Given the description of an element on the screen output the (x, y) to click on. 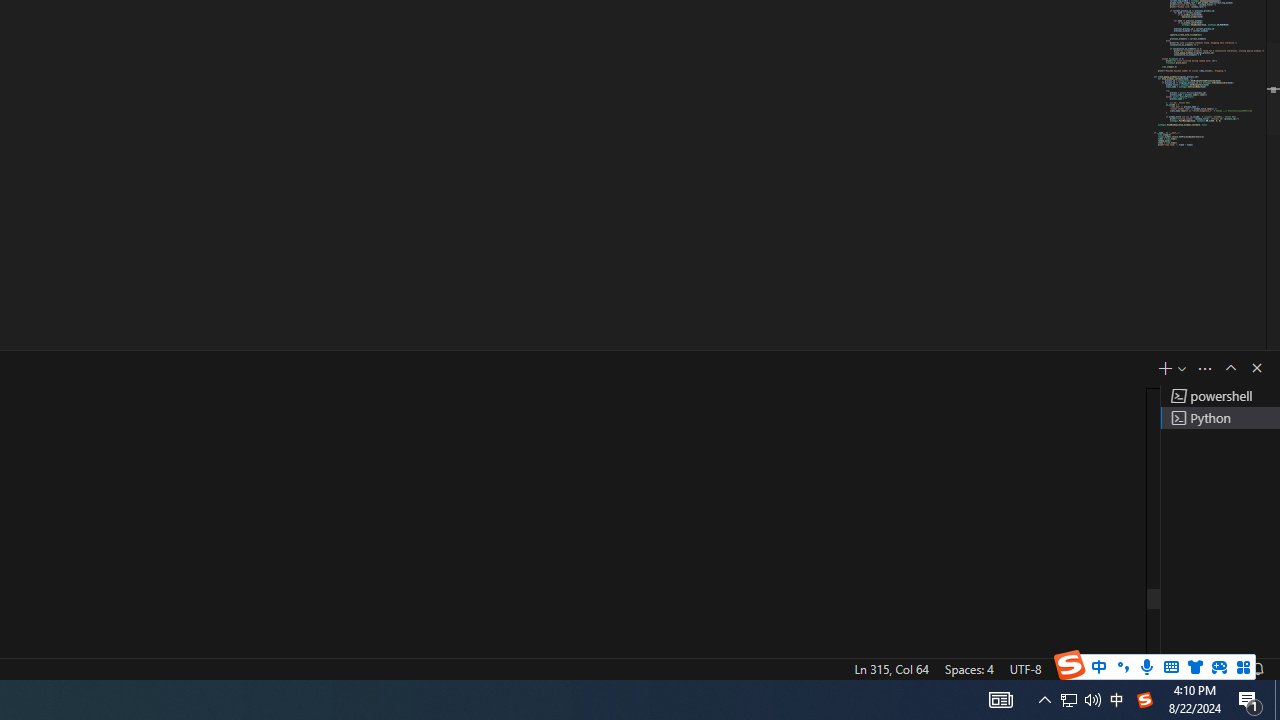
Intense Reference (1130, 111)
Disable Linked Styles (1094, 556)
Zoom In (1204, 640)
Notion (333, 687)
